Given the description of an element on the screen output the (x, y) to click on. 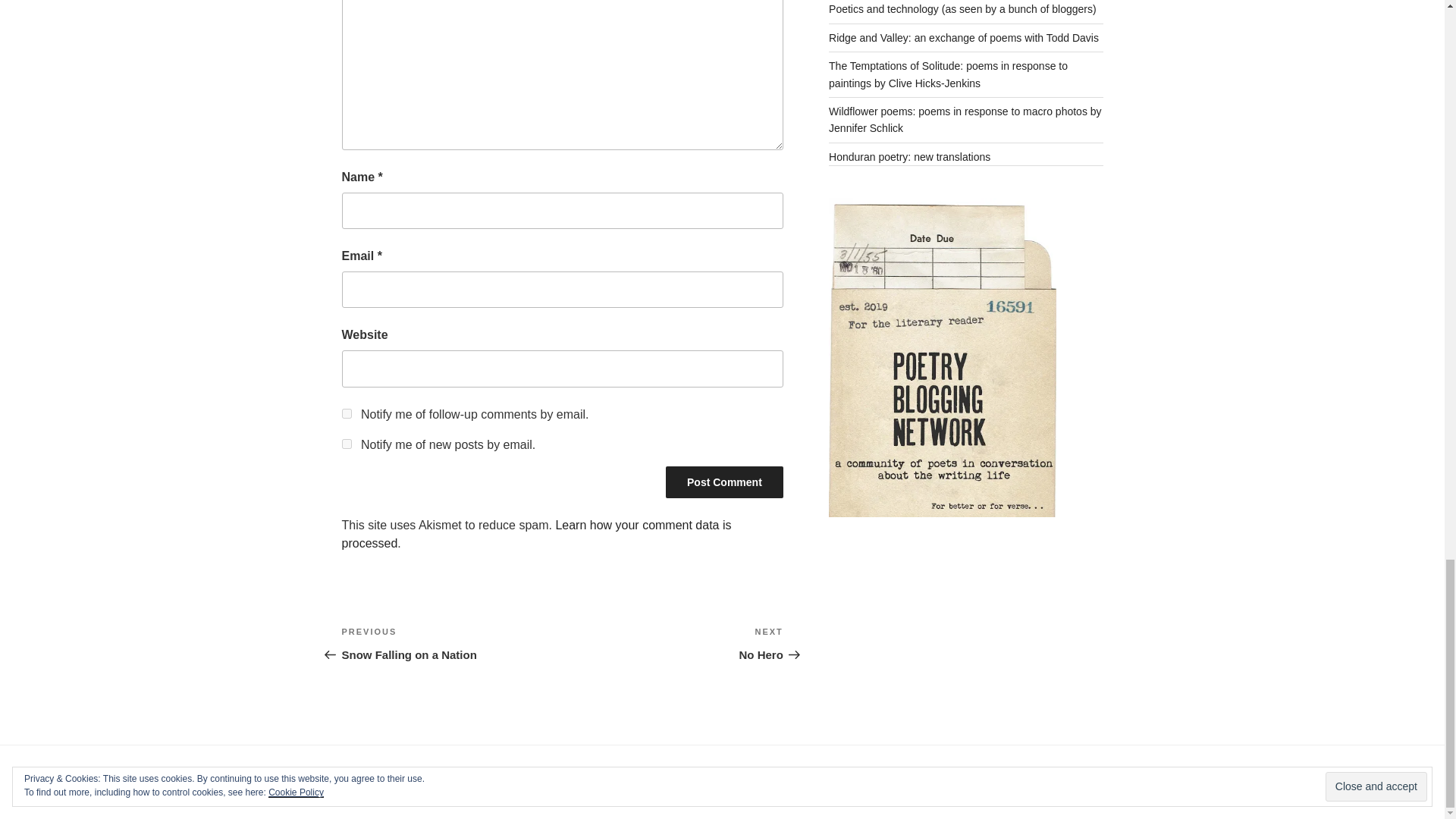
subscribe (345, 443)
Post Comment (724, 481)
Post Comment (672, 643)
Learn how your comment data is processed (451, 643)
subscribe (724, 481)
